Given the description of an element on the screen output the (x, y) to click on. 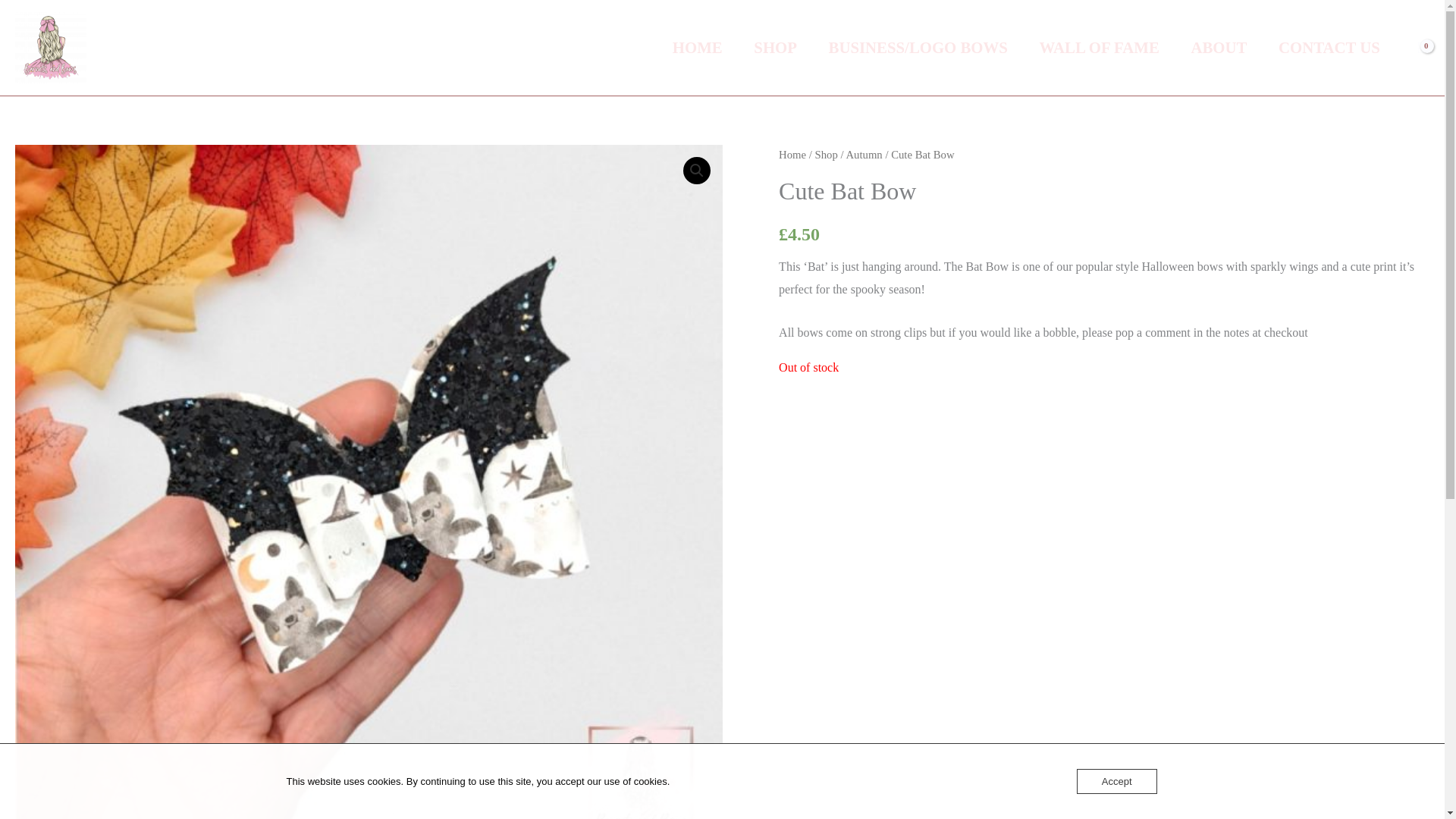
WALL OF FAME (1098, 48)
Accept (1117, 781)
Shop (826, 154)
HOME (697, 48)
ABOUT (1218, 48)
Autumn (863, 154)
CONTACT US (1328, 48)
SHOP (775, 48)
Home (792, 154)
